Given the description of an element on the screen output the (x, y) to click on. 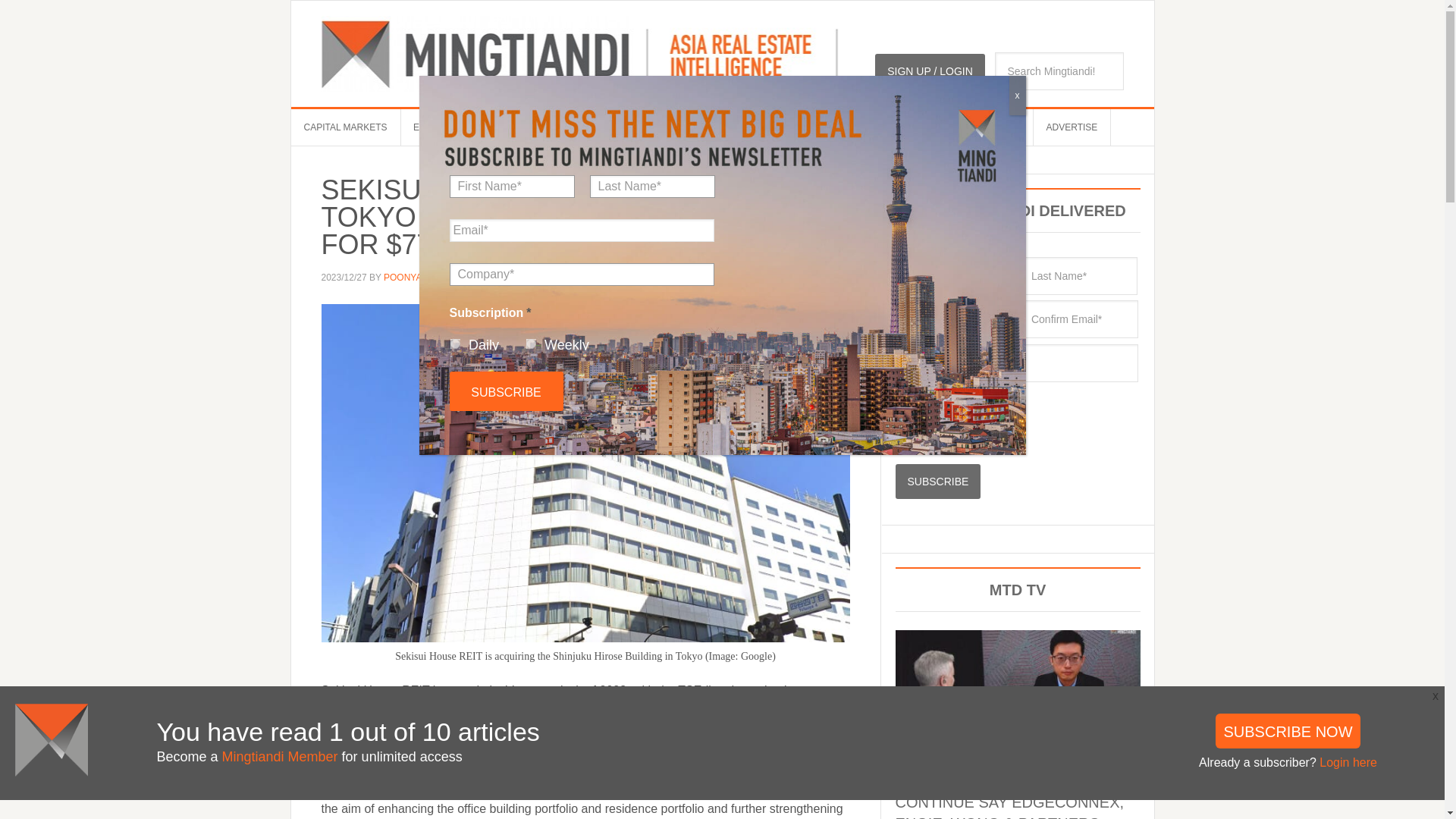
RETAIL (883, 126)
ASIA OUTBOUND (805, 126)
in a stock filing (612, 788)
Daily (900, 440)
MINGTIANDI (579, 53)
EVENTS (431, 126)
MTD TV (492, 126)
CAPITAL MARKETS (346, 126)
PEOPLE (553, 126)
ADVERTISE (1072, 126)
POONYAPAT LUENAM (431, 276)
LOGISTICS (622, 126)
DATA CENTRES (706, 126)
